Given the description of an element on the screen output the (x, y) to click on. 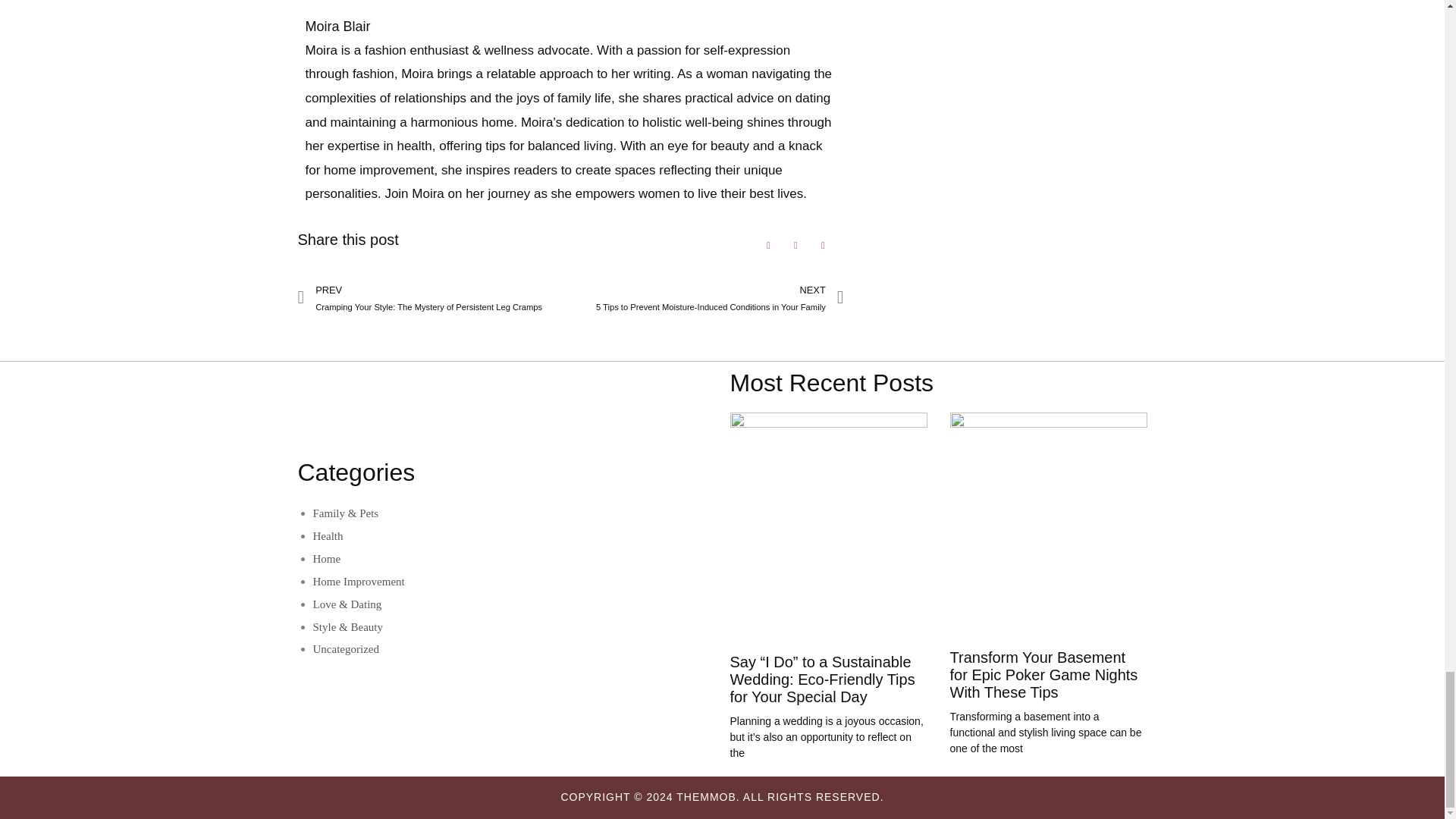
Health (327, 535)
